Given the description of an element on the screen output the (x, y) to click on. 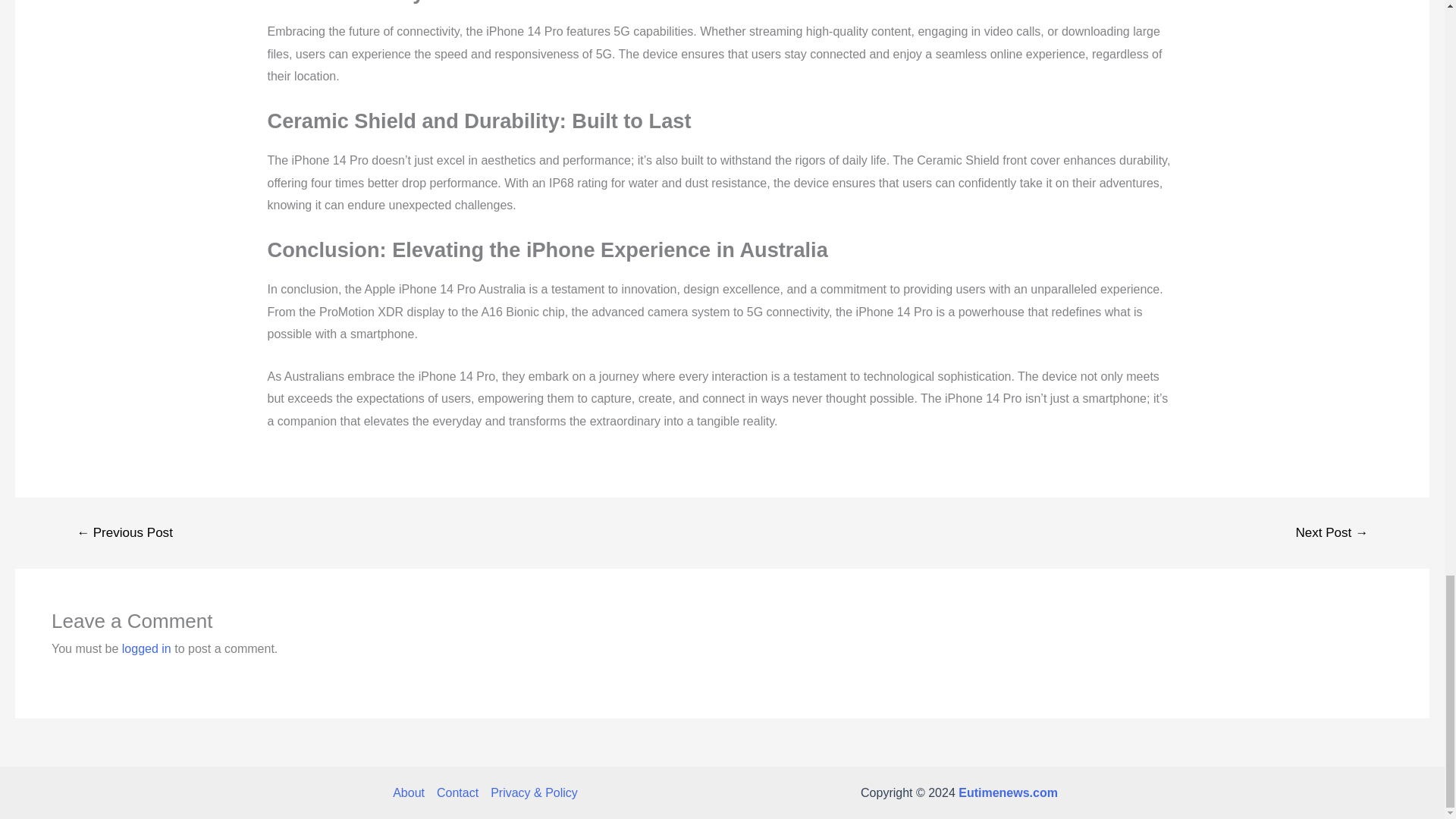
logged in (146, 648)
Eutimenews.com (1008, 792)
About (411, 793)
Contact (457, 793)
